Given the description of an element on the screen output the (x, y) to click on. 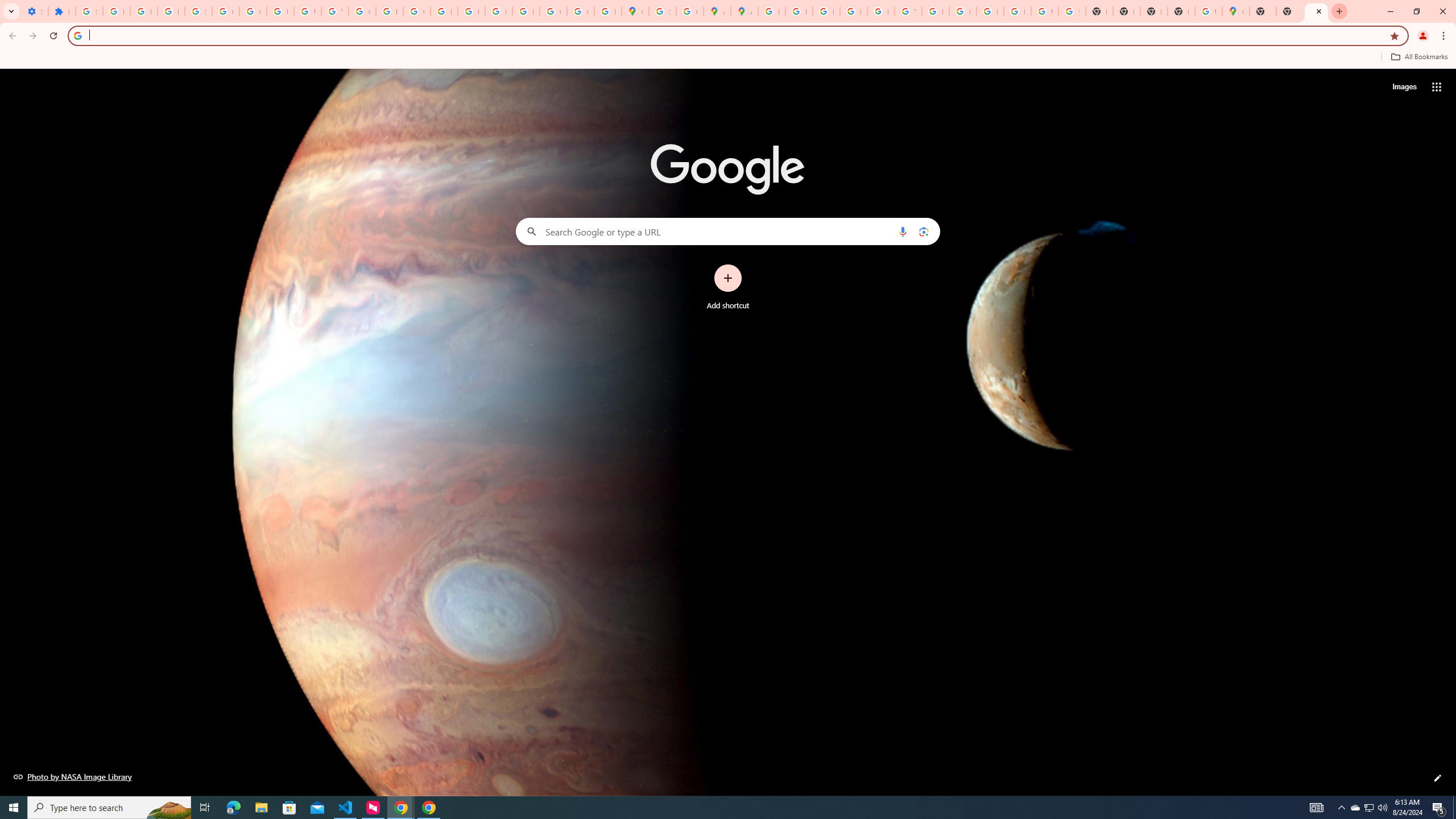
Privacy Help Center - Policies Help (826, 11)
Google Maps (1236, 11)
Use Google Maps in Space - Google Maps Help (1208, 11)
Google Account Help (253, 11)
Privacy Help Center - Policies Help (444, 11)
